Given the description of an element on the screen output the (x, y) to click on. 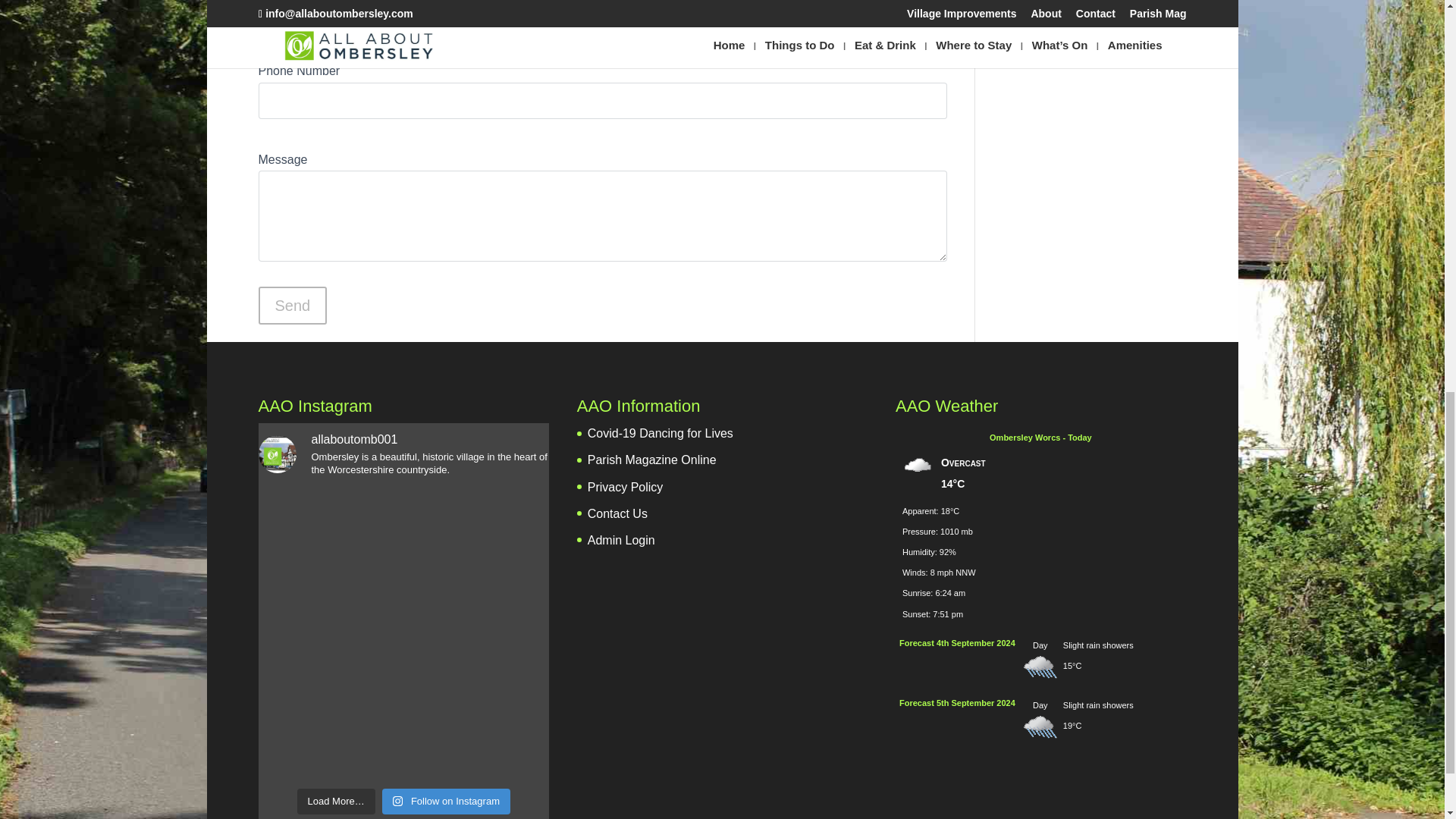
Send (291, 305)
Send (291, 305)
